Given the description of an element on the screen output the (x, y) to click on. 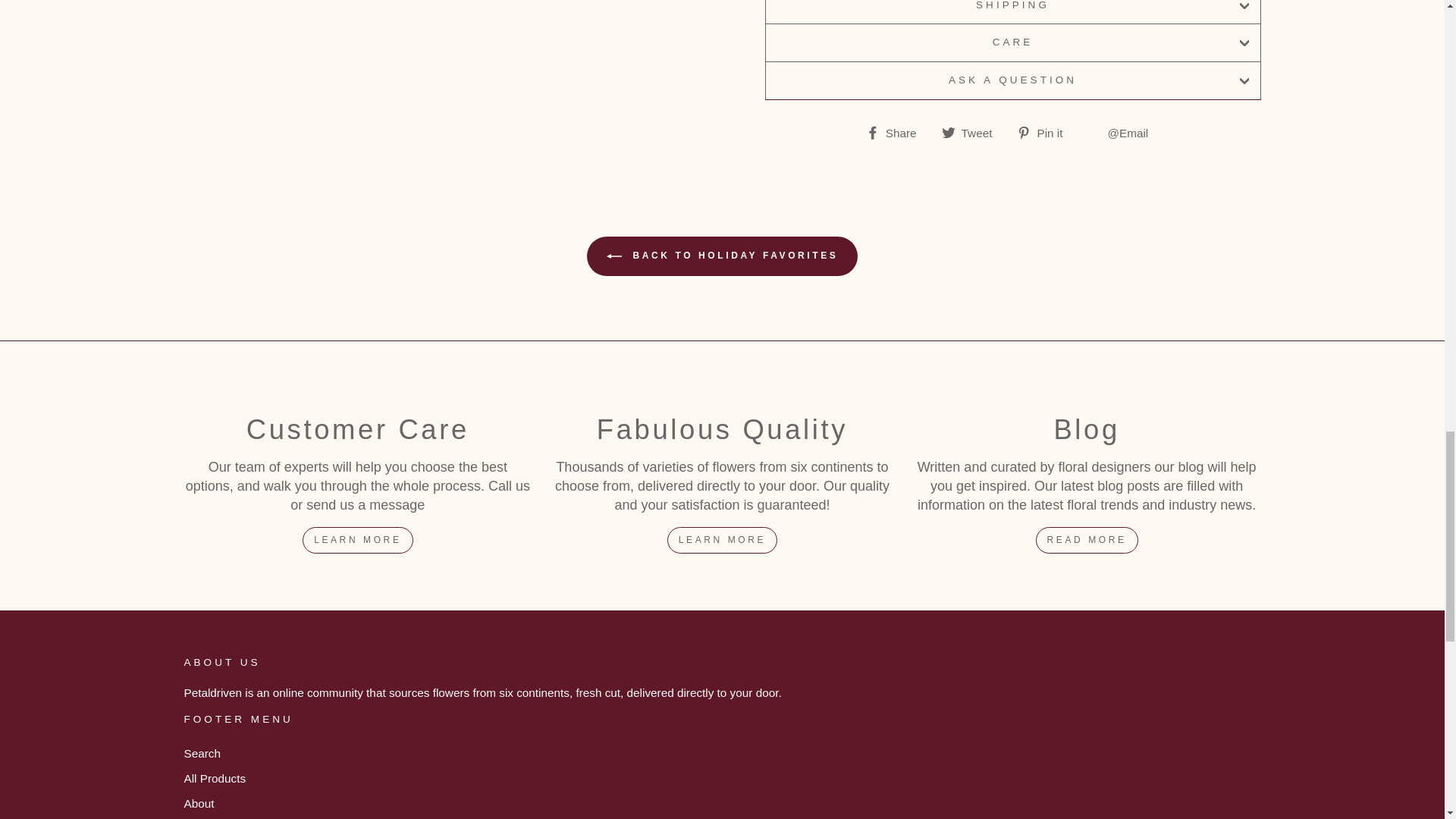
Pin on Pinterest (1045, 131)
Email this product to a friend (1122, 131)
Tweet on Twitter (973, 131)
Share on Facebook (897, 131)
